Given the description of an element on the screen output the (x, y) to click on. 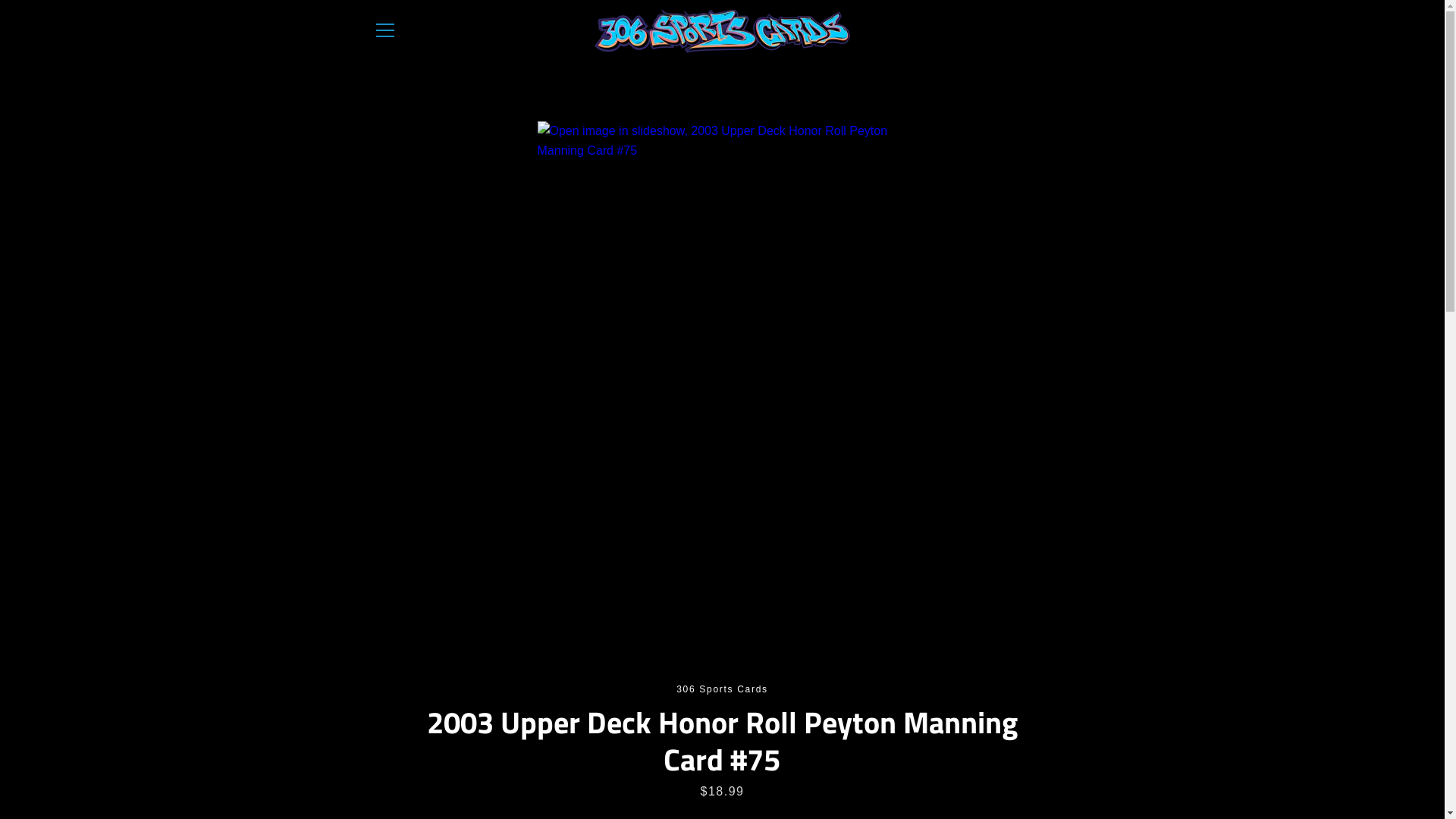
MENU Element type: text (384, 30)
OUR STORY Element type: text (811, 659)
GROUP BREAKS Element type: text (651, 659)
VIEW CART Element type: text (1059, 30)
FIND US ON EBAY Element type: text (545, 659)
Facebook Element type: text (372, 765)
HOME Element type: text (466, 659)
REFUND POLICY Element type: text (714, 693)
Skip to content Element type: text (0, 0)
Instagram Element type: text (399, 765)
306 NEWS Element type: text (737, 659)
TERMS OF SERVICE Element type: text (826, 693)
PRIVACY POLICY Element type: text (610, 693)
YouTube Element type: text (425, 765)
REVIEWS Element type: text (883, 659)
306 Sports Cards Element type: text (733, 756)
CONTACT US Element type: text (959, 659)
Powered by Shopify Element type: text (767, 765)
